Given the description of an element on the screen output the (x, y) to click on. 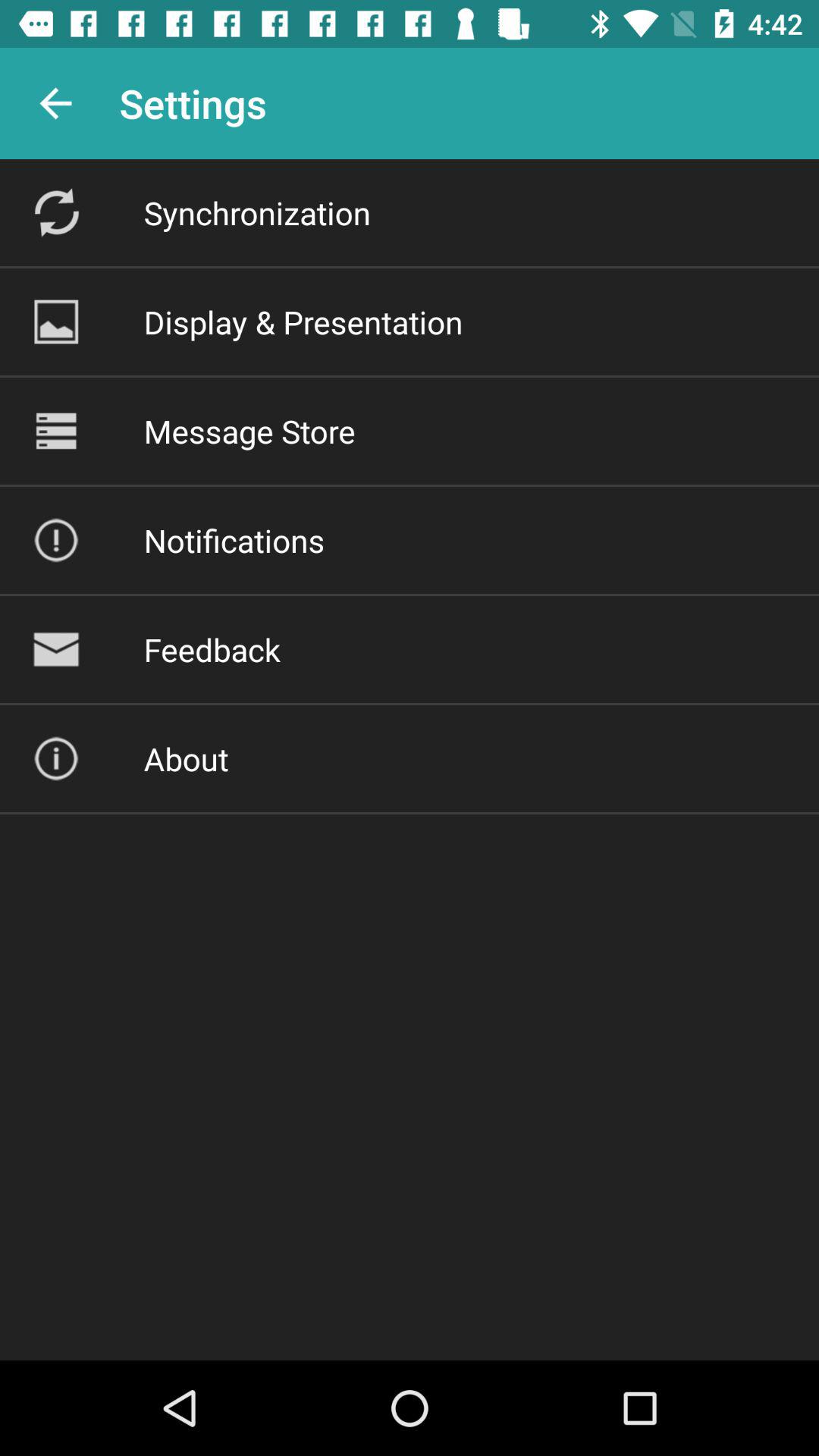
jump until feedback item (211, 649)
